Given the description of an element on the screen output the (x, y) to click on. 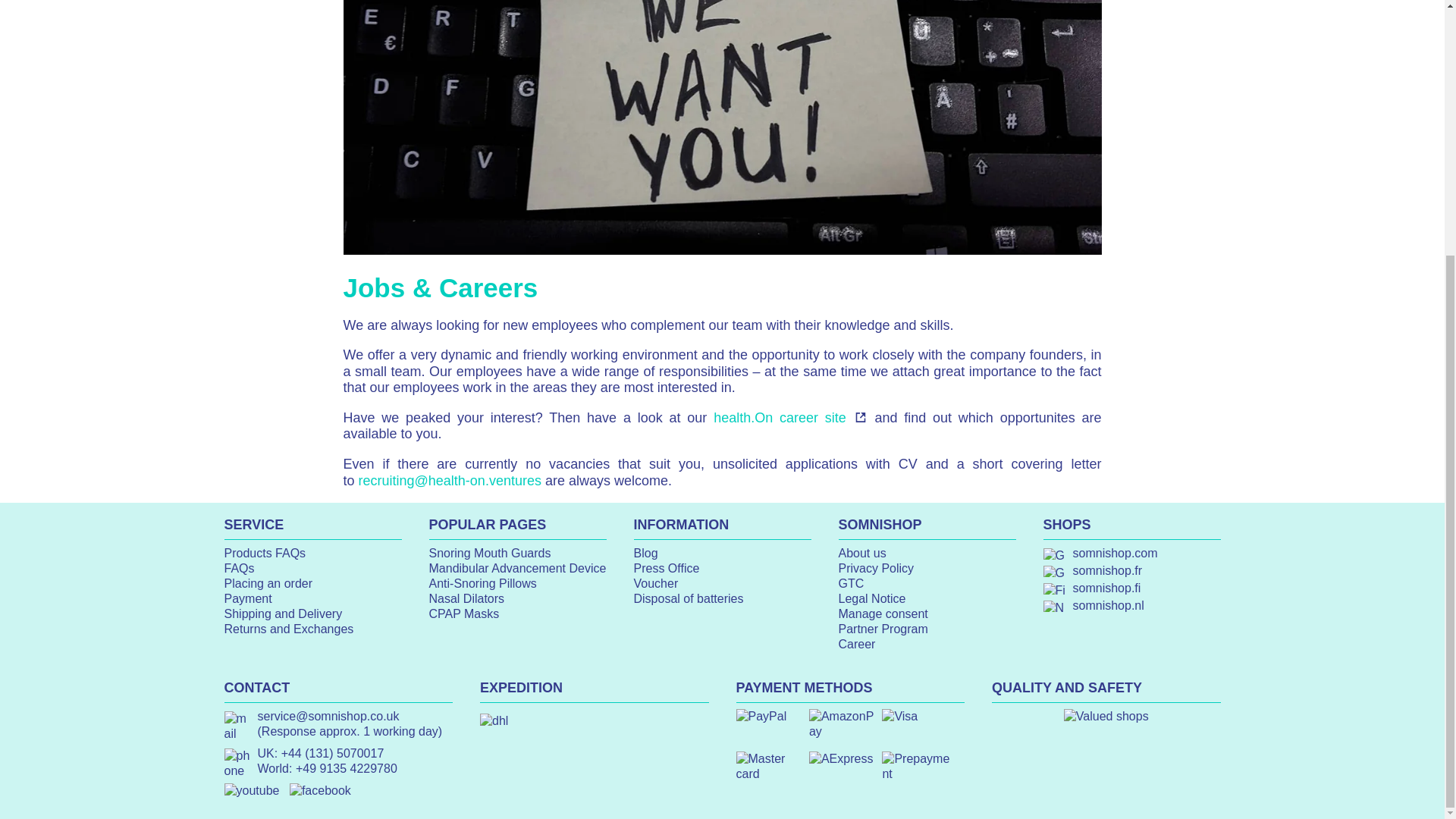
Trustmark webshop (1106, 716)
